Given the description of an element on the screen output the (x, y) to click on. 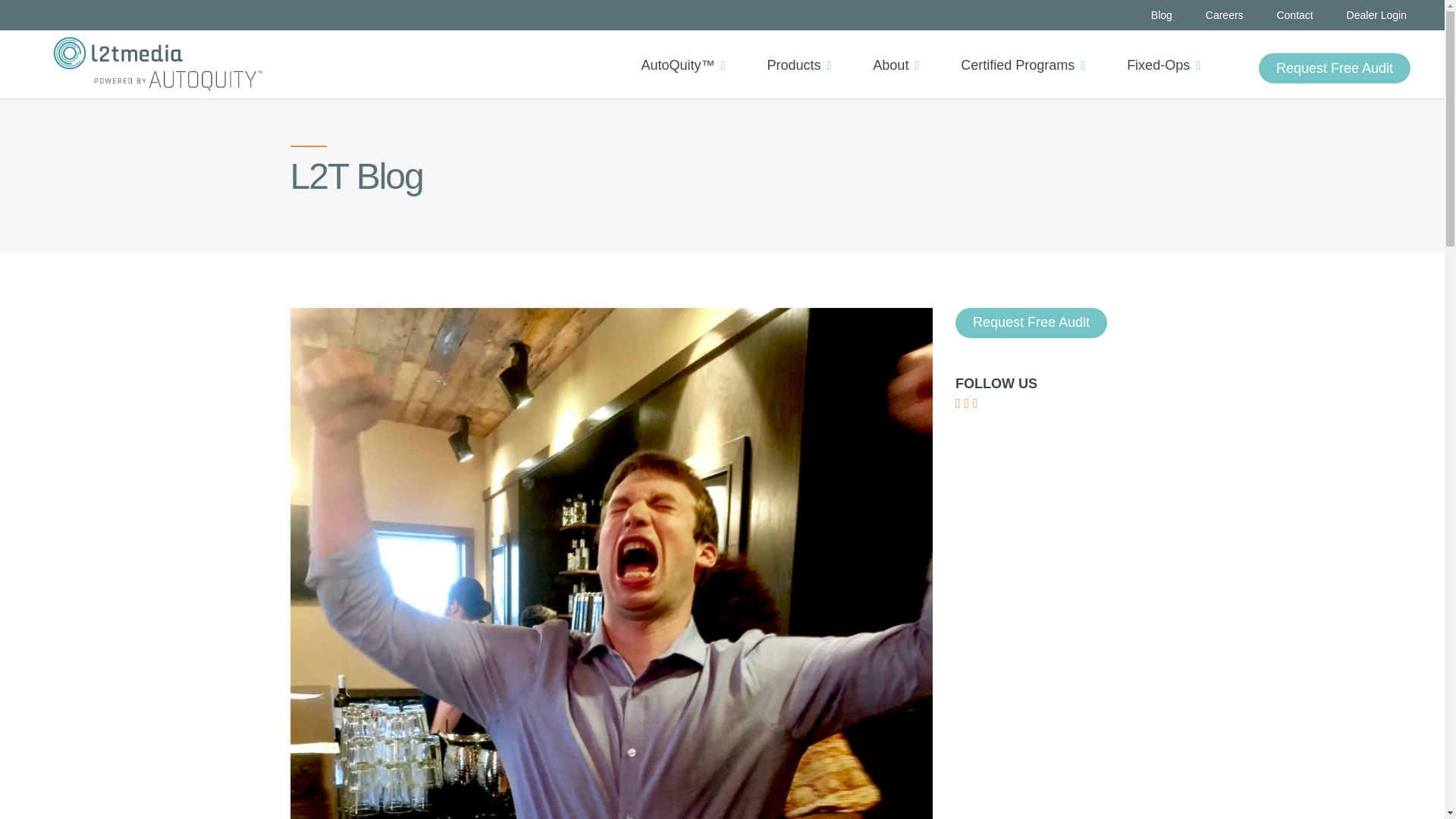
Products (804, 52)
Certified Programs (1028, 52)
About (900, 52)
Fixed-Ops (1169, 52)
Careers (1224, 15)
Contact (1294, 15)
Dealer Login (1376, 15)
Blog (1161, 15)
Request Free Audit (1334, 68)
Request Free Audit (1334, 68)
